Given the description of an element on the screen output the (x, y) to click on. 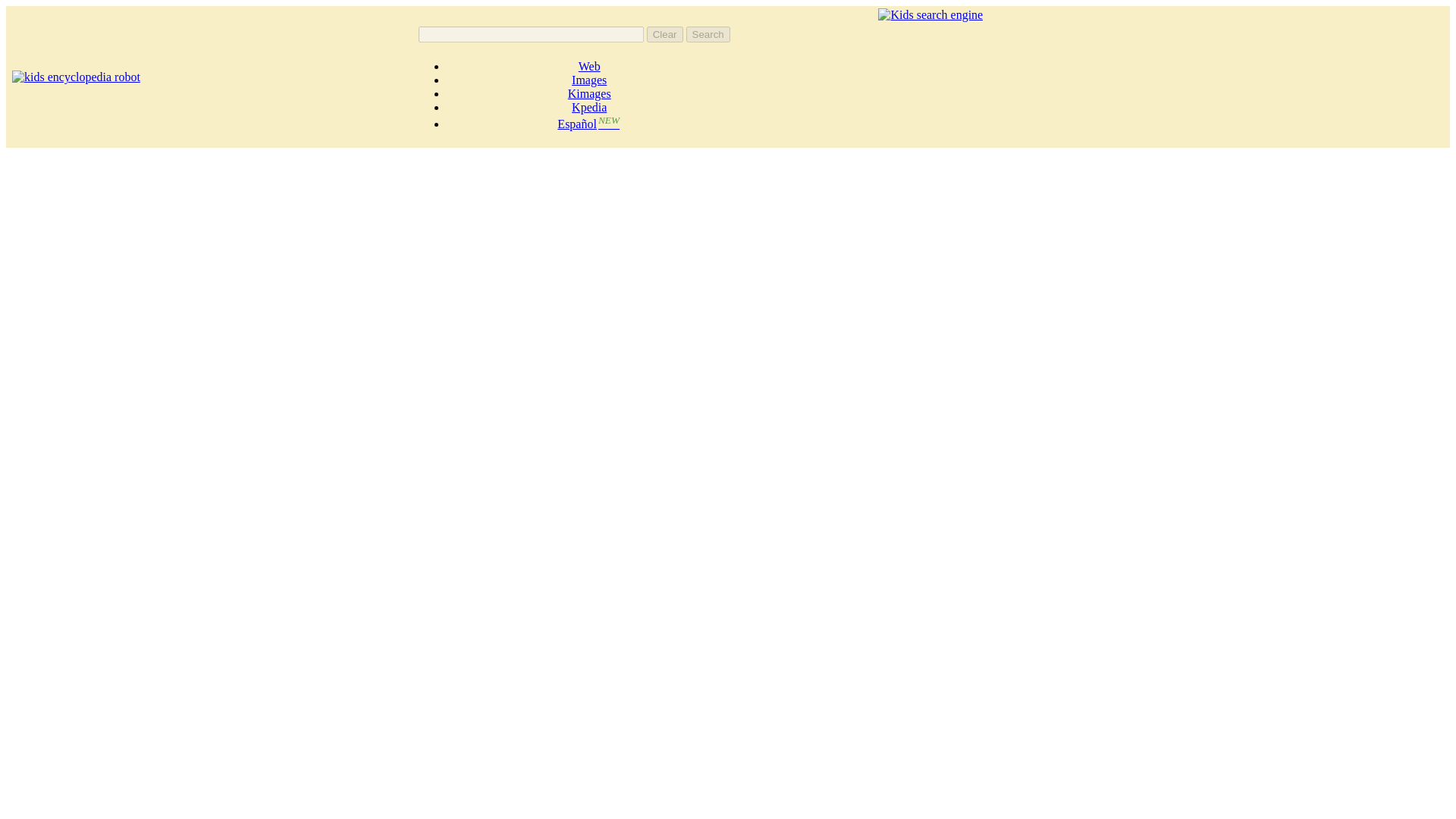
Images (589, 79)
Kpedia (589, 106)
Clear (664, 34)
Search (707, 34)
Kimages (589, 92)
Web (588, 65)
